Given the description of an element on the screen output the (x, y) to click on. 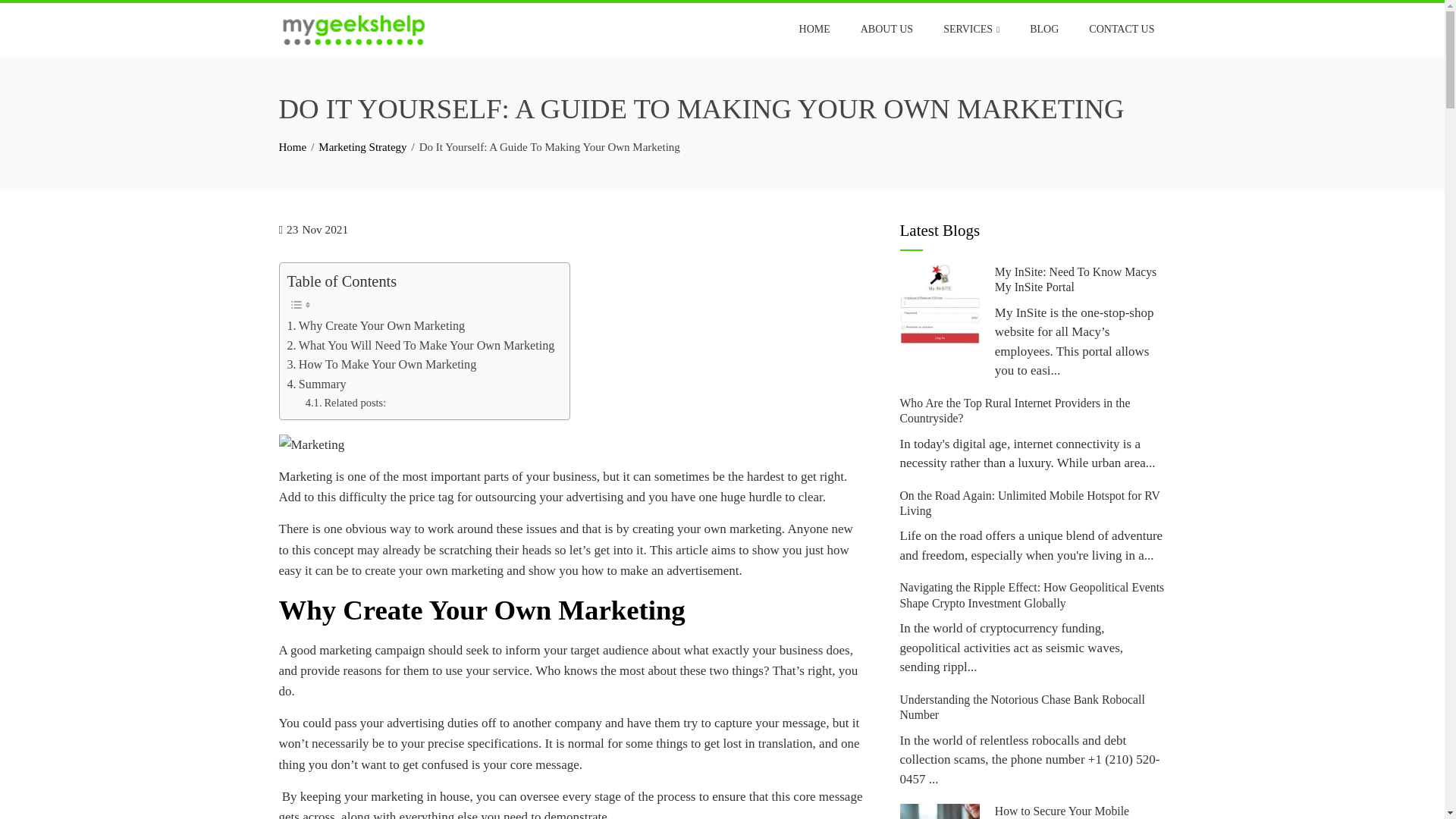
Summary (316, 383)
Summary (316, 383)
Why Create Your Own Marketing (375, 325)
Home (293, 146)
My InSite: Need To Know Macys My InSite Portal (1075, 279)
Search (32, 15)
CONTACT US (1121, 29)
How To Make Your Own Marketing (381, 364)
How To Make Your Own Marketing (381, 364)
